Given the description of an element on the screen output the (x, y) to click on. 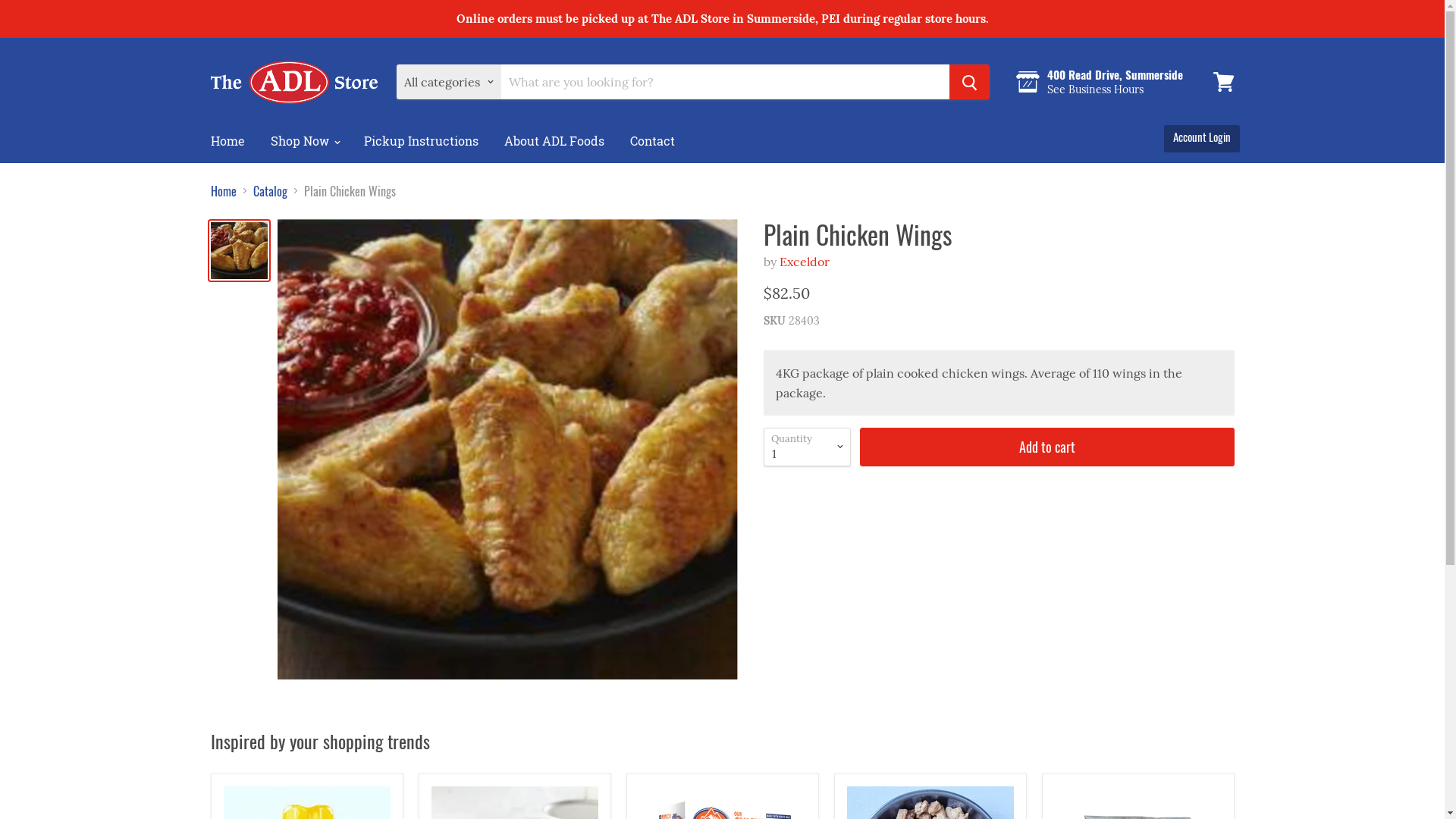
Account Login Element type: text (1201, 136)
Exceldor Element type: text (804, 261)
Contact Element type: text (652, 140)
Pickup Instructions Element type: text (420, 140)
Home Element type: text (226, 140)
About ADL Foods Element type: text (553, 140)
Add to cart Element type: text (1046, 446)
Shop Now Element type: text (304, 140)
View cart Element type: text (1223, 81)
Catalog Element type: text (270, 190)
Home Element type: text (223, 190)
